Given the description of an element on the screen output the (x, y) to click on. 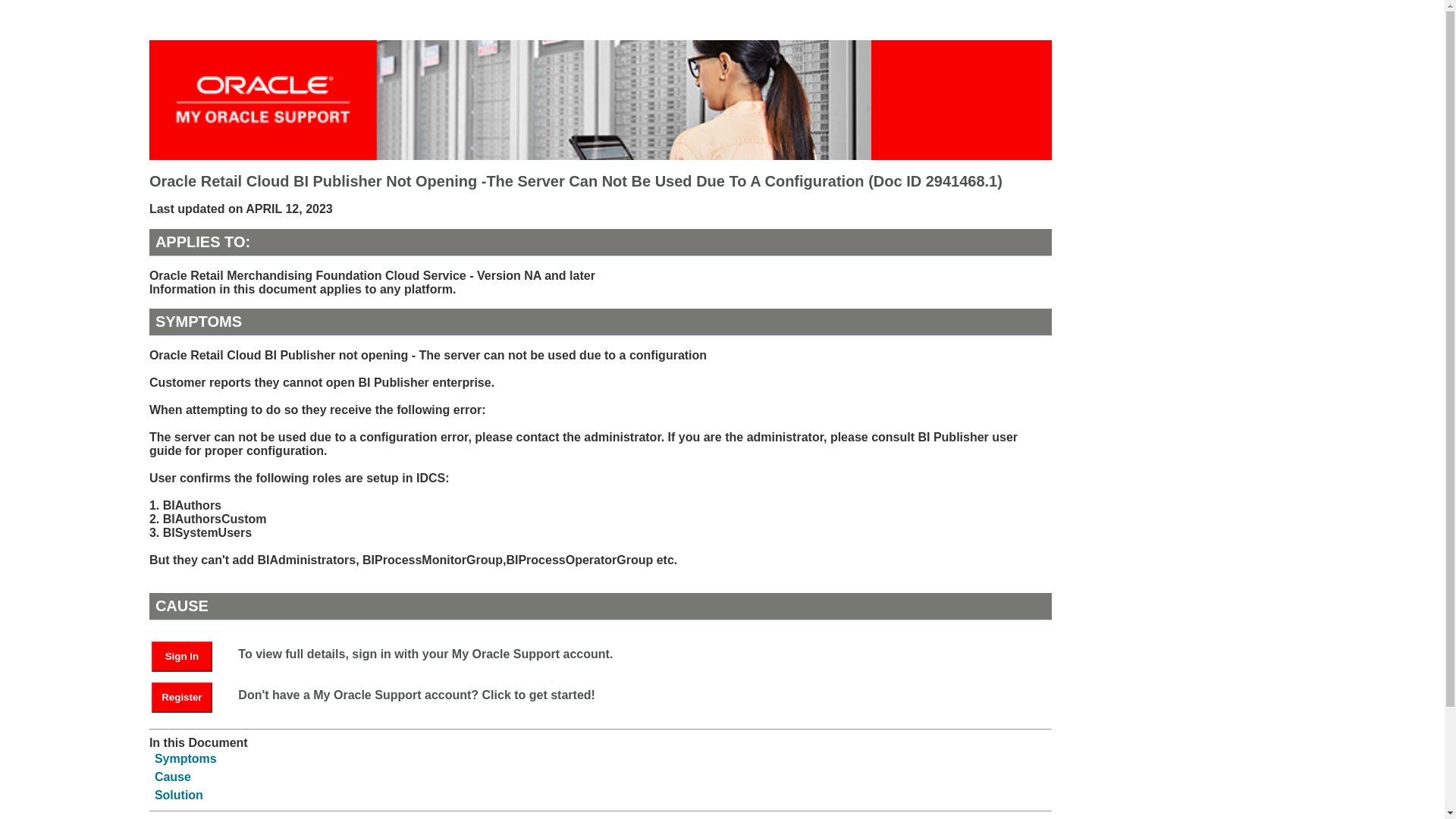
Solution (178, 794)
Register (181, 697)
Sign In (189, 655)
Symptoms (185, 758)
Register (189, 696)
Sign In (181, 656)
Cause (172, 776)
